Given the description of an element on the screen output the (x, y) to click on. 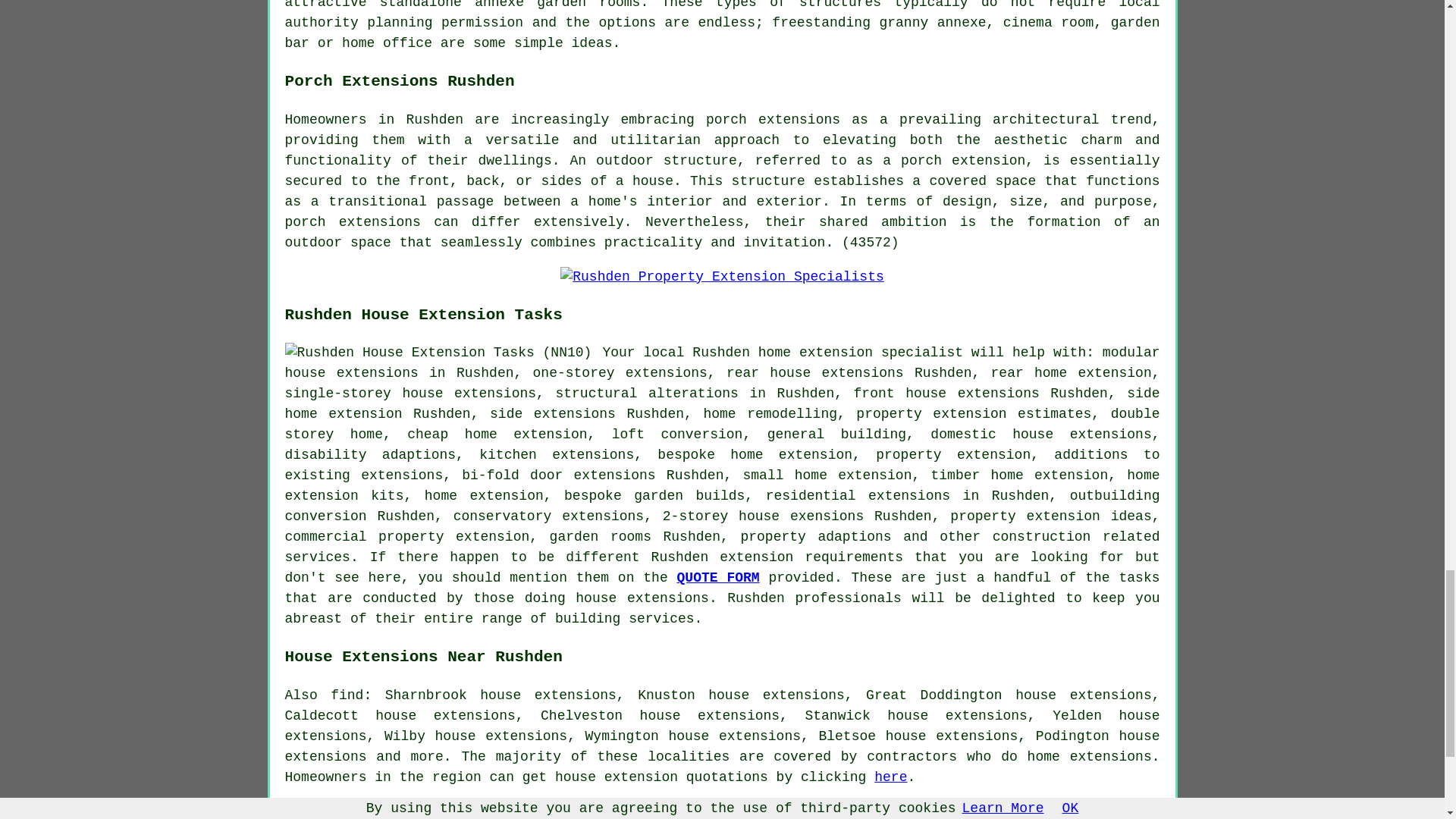
Rushden home extension specialist (827, 352)
side extensions (552, 413)
construction (1041, 536)
cheap home extension (496, 434)
